Given the description of an element on the screen output the (x, y) to click on. 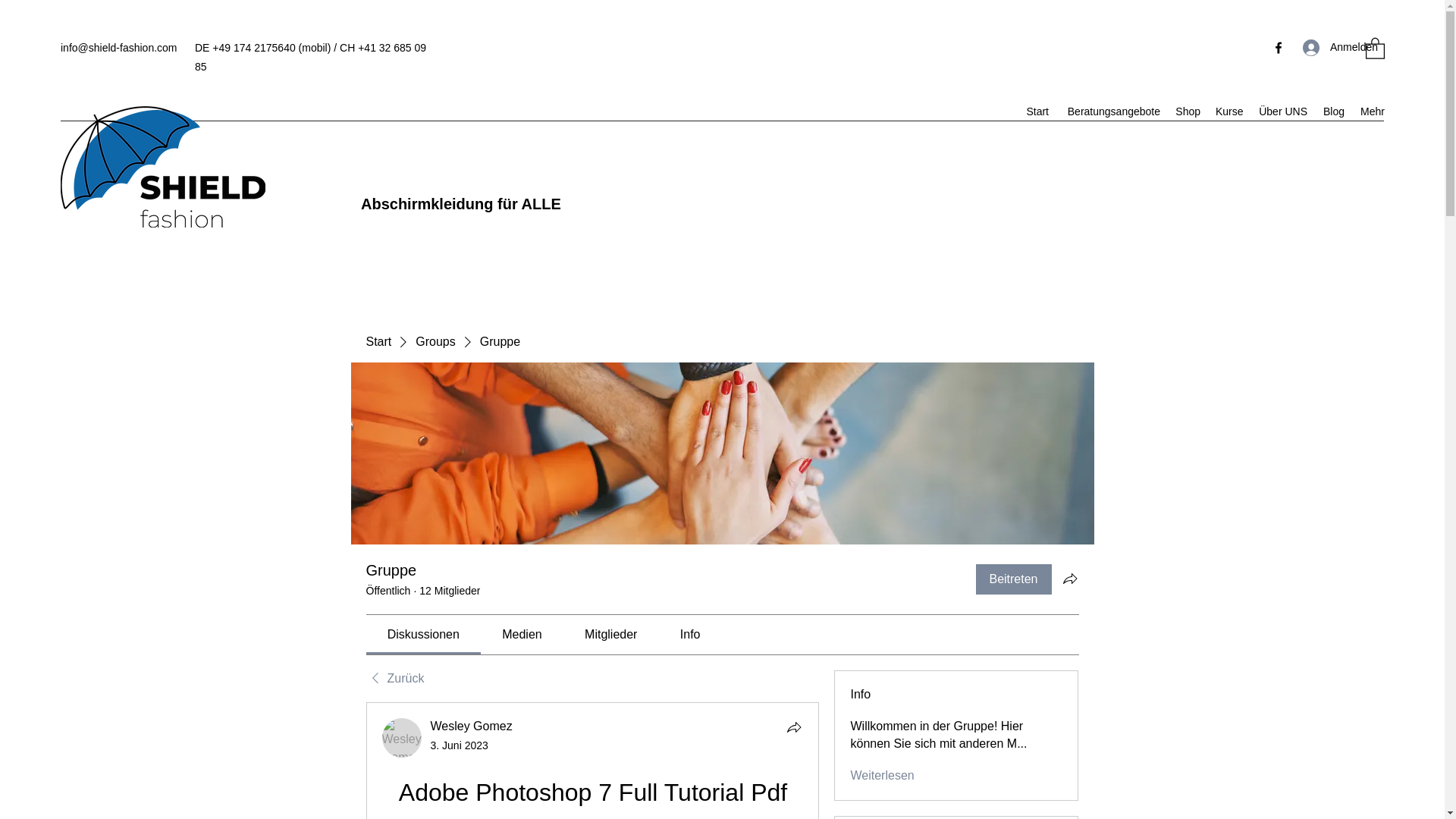
Shop (1187, 110)
Start (1037, 110)
Start (378, 341)
Blog (1333, 110)
Beratungsangebote (1112, 110)
Weiterlesen (882, 775)
3. Juni 2023 (458, 745)
Wesley Gomez (401, 737)
Beitreten (1013, 579)
Kurse (1229, 110)
Anmelden (1325, 47)
Groups (434, 341)
